Given the description of an element on the screen output the (x, y) to click on. 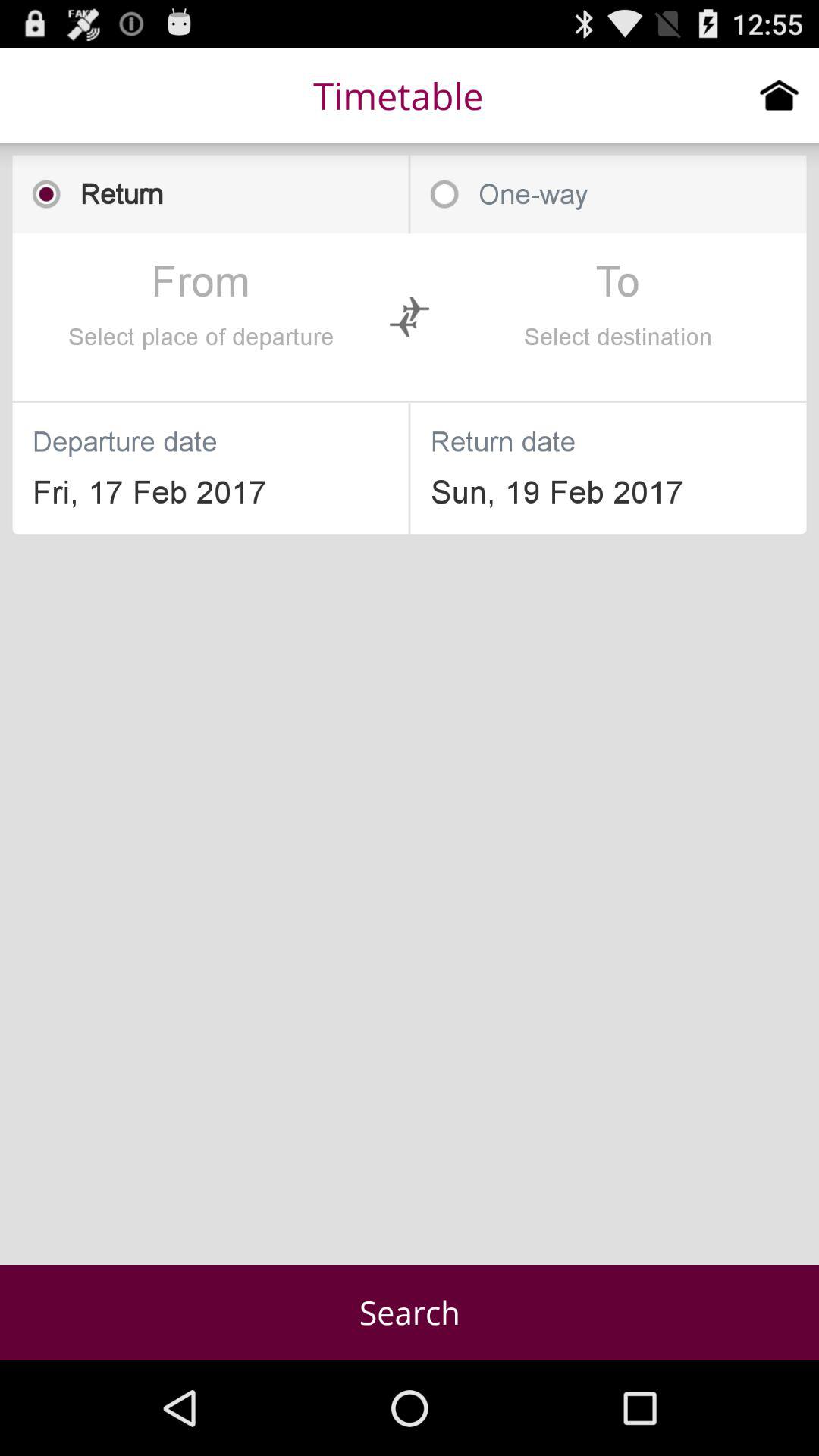
click item to the right of timetable icon (779, 95)
